Given the description of an element on the screen output the (x, y) to click on. 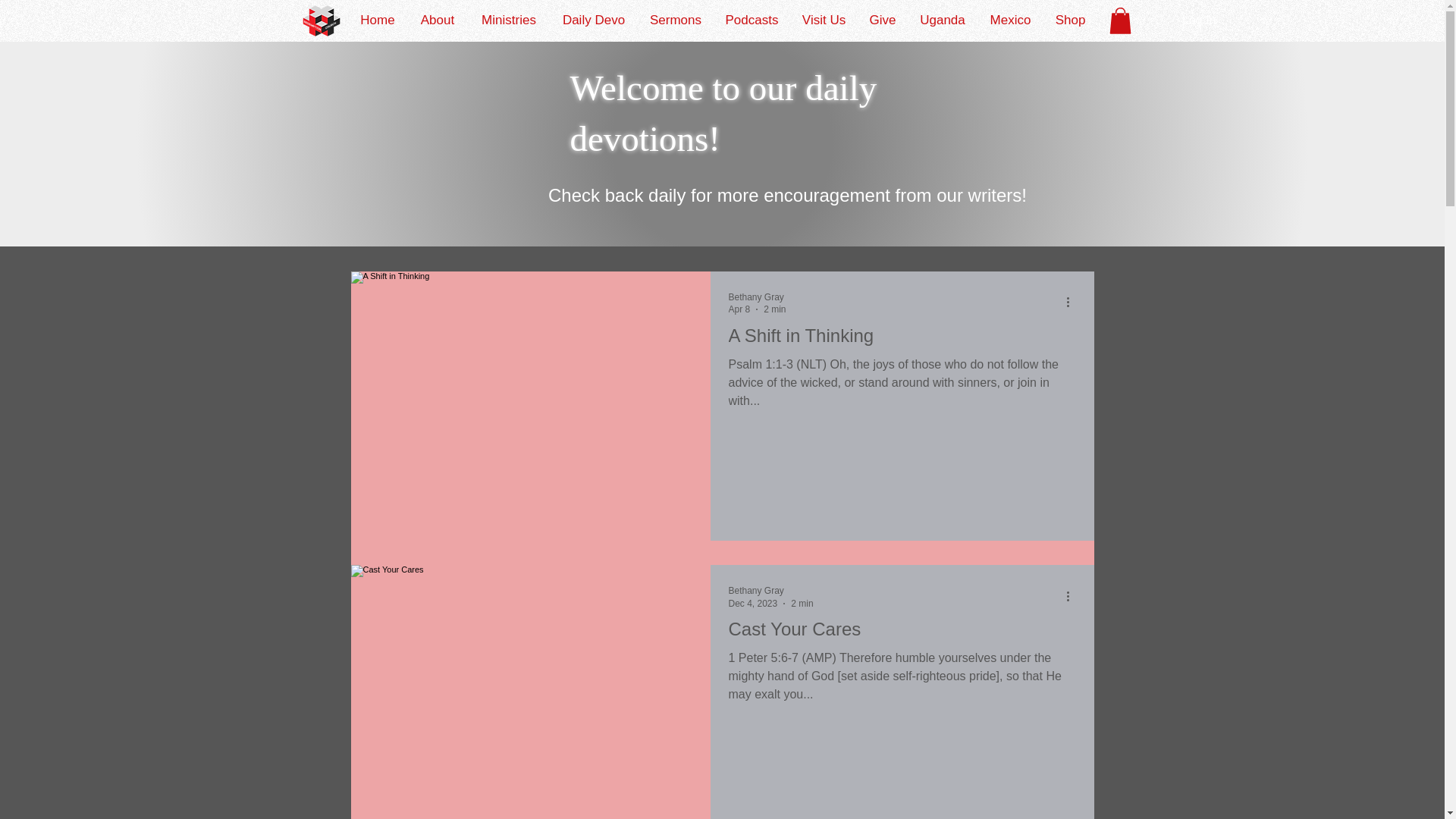
Visit Us (823, 20)
Log In (1198, 20)
Sermons (675, 20)
Bethany Gray (757, 296)
Ministries (508, 20)
About (437, 20)
Mexico (1009, 20)
Podcasts (751, 20)
A Shift in Thinking (901, 339)
Home (377, 20)
Daily Devo (593, 20)
Cast Your Cares (901, 633)
Give (882, 20)
2 min (774, 308)
Bethany Gray (770, 590)
